Given the description of an element on the screen output the (x, y) to click on. 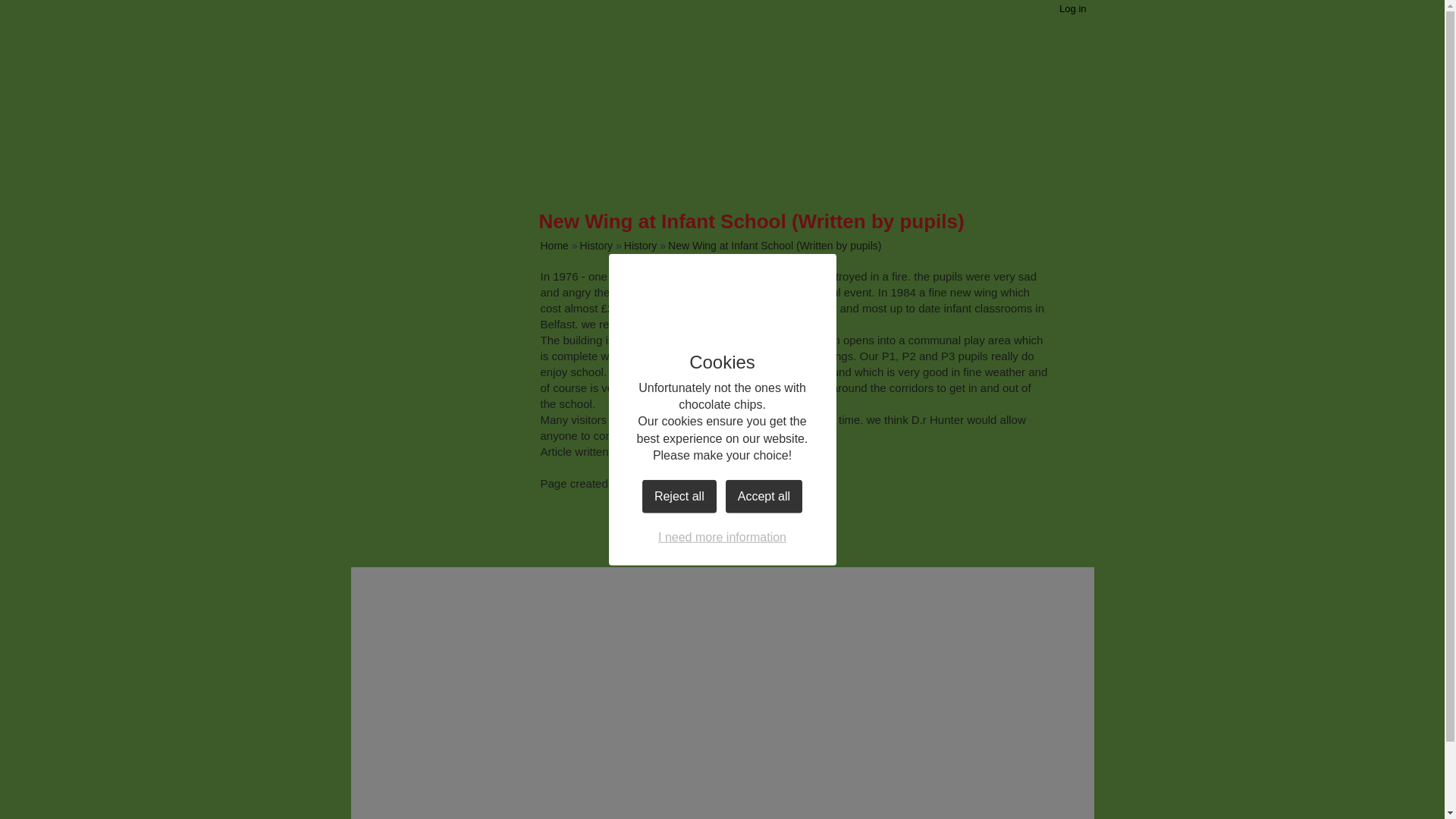
News and Events (401, 281)
Parents (401, 336)
Home Page (997, 66)
History (641, 245)
Home (553, 245)
Key Information (401, 223)
About Us (401, 180)
Home (401, 136)
Log in (1072, 8)
History (595, 245)
